Given the description of an element on the screen output the (x, y) to click on. 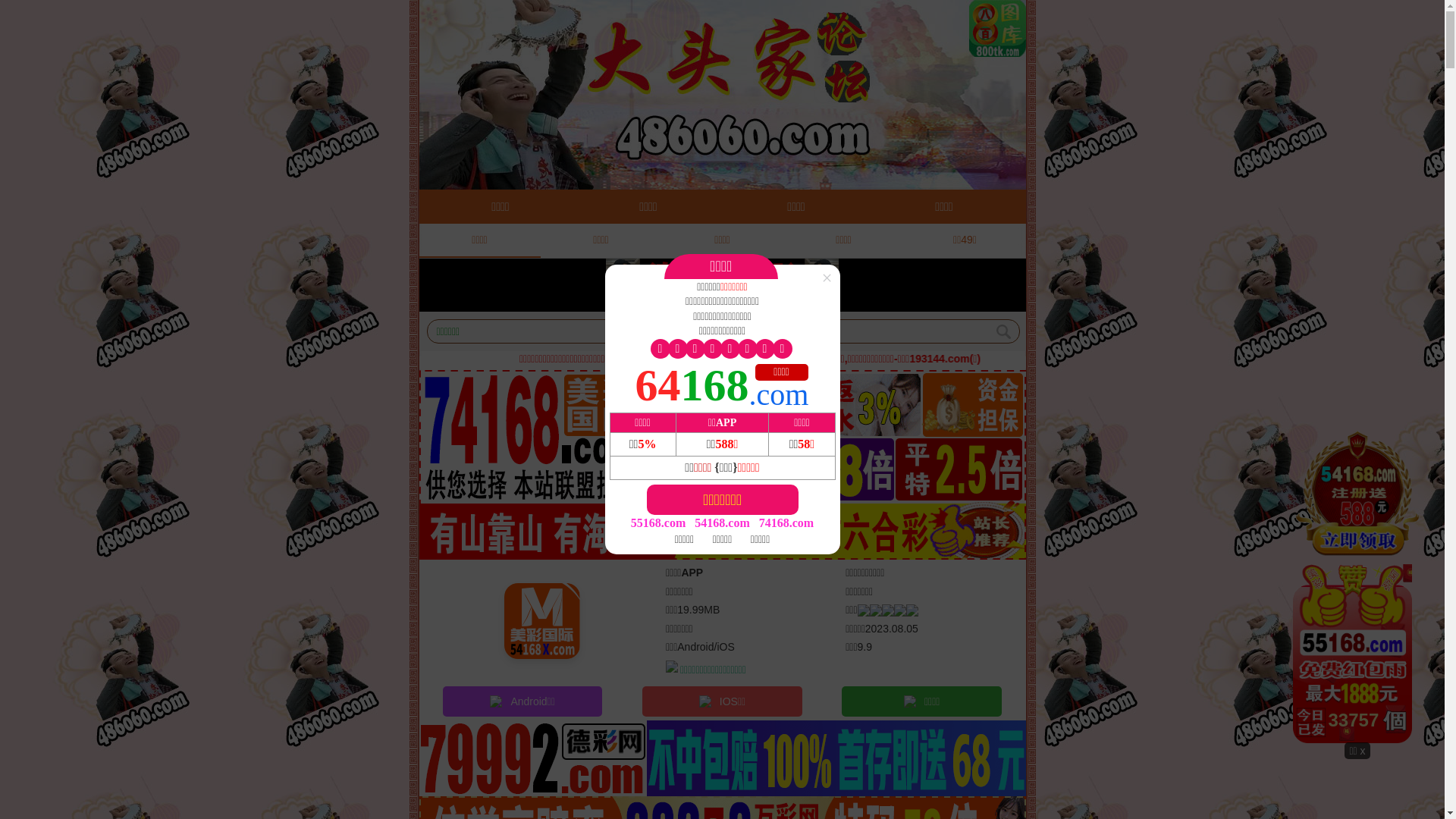
33723 Element type: text (1356, 585)
